Given the description of an element on the screen output the (x, y) to click on. 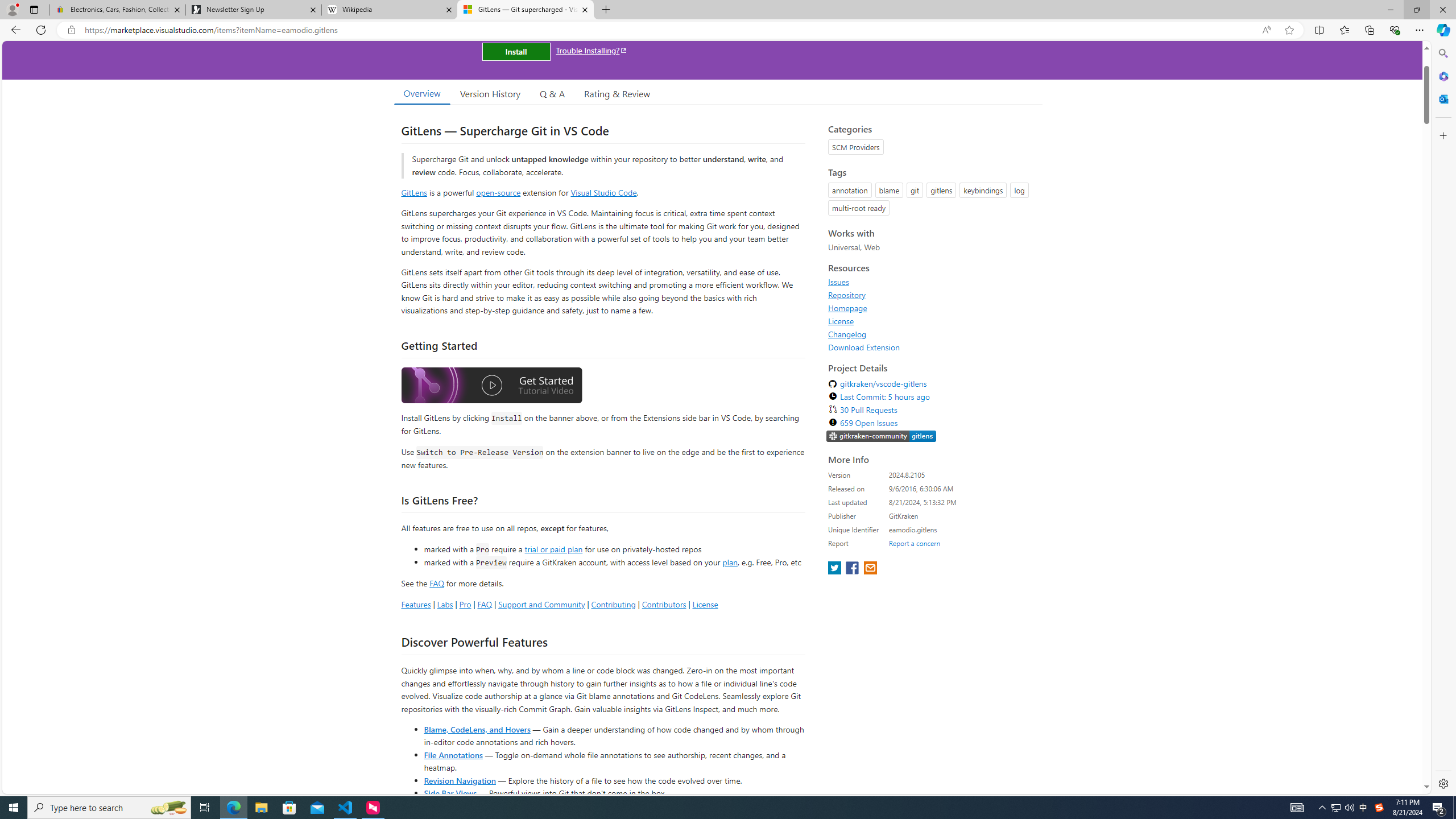
Newsletter Sign Up (253, 9)
GitLens (414, 192)
Side bar (1443, 418)
Changelog (847, 333)
App bar (728, 29)
License (840, 320)
Version History (489, 92)
plan (730, 562)
